Given the description of an element on the screen output the (x, y) to click on. 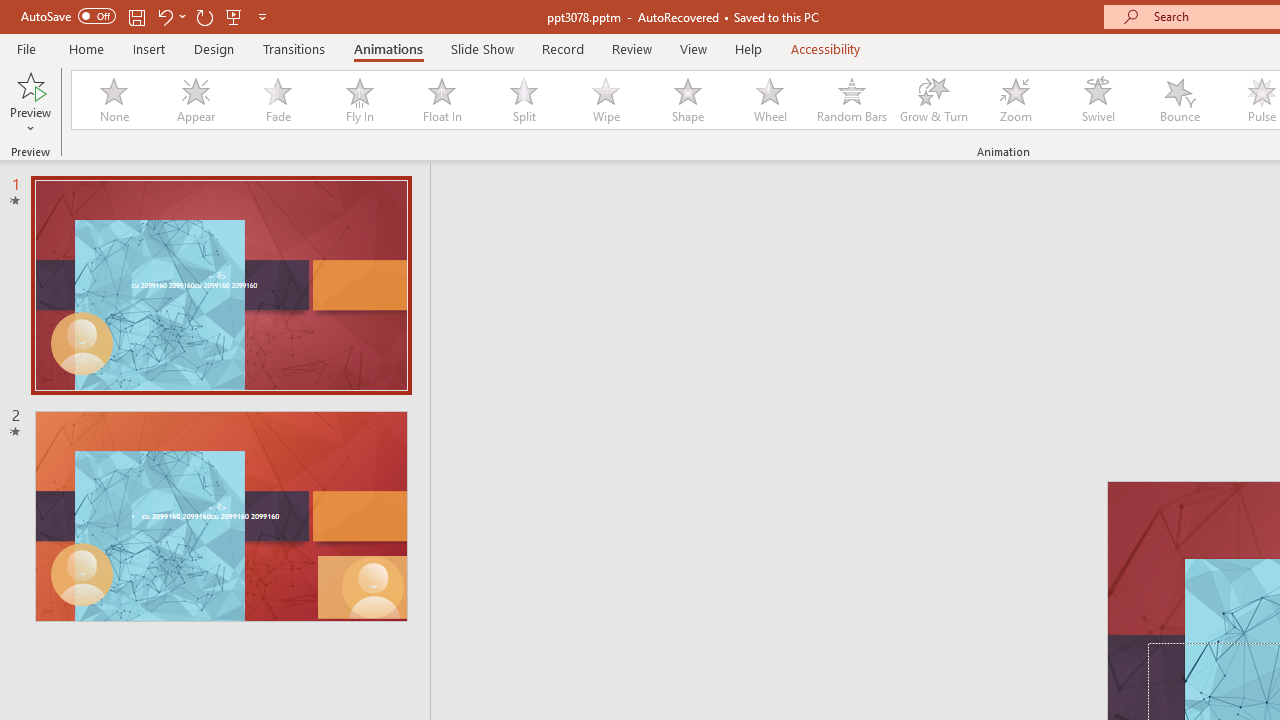
Fade (277, 100)
Split (523, 100)
Float In (441, 100)
None (113, 100)
